Given the description of an element on the screen output the (x, y) to click on. 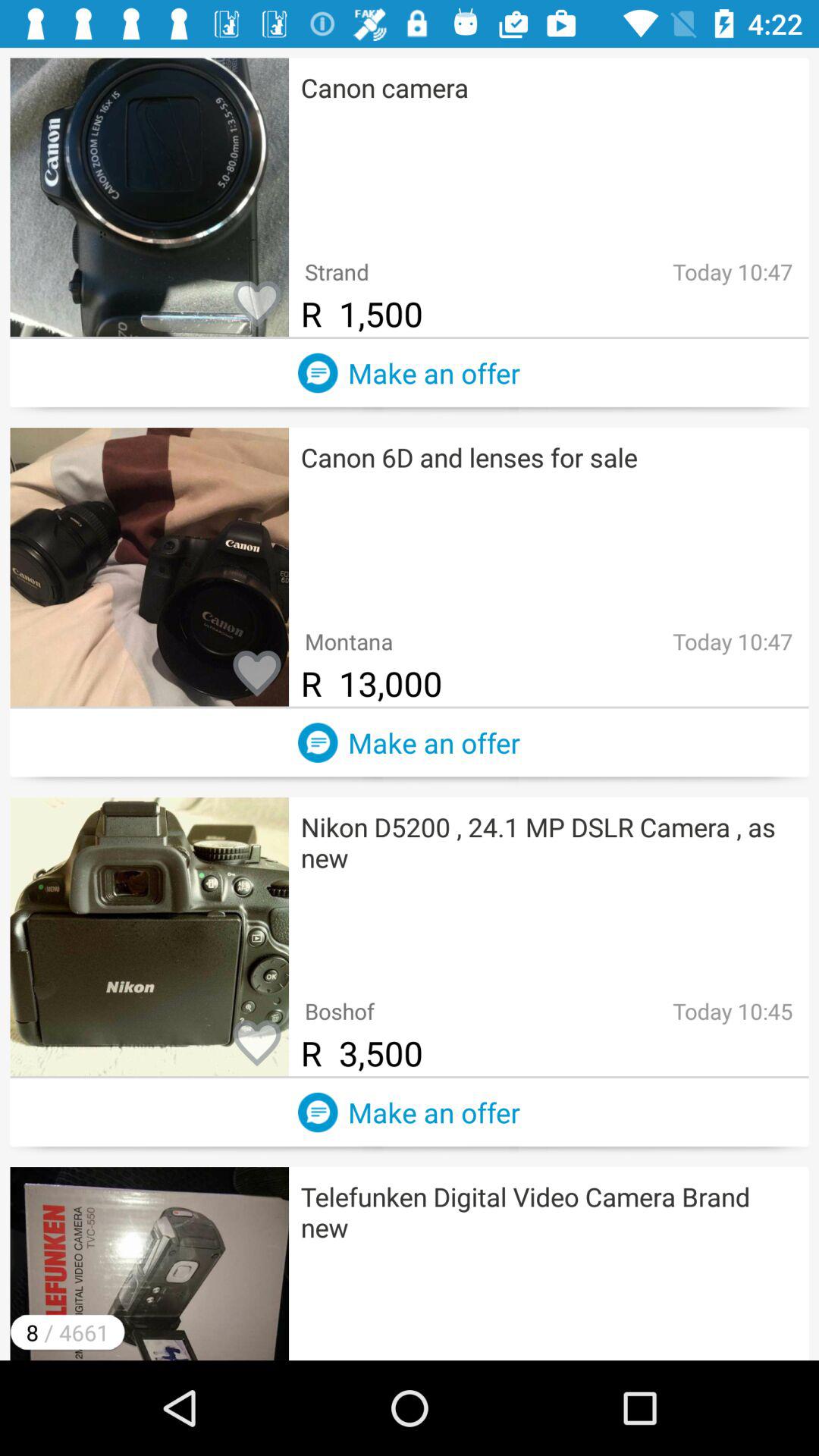
favorite this listing (256, 674)
